Given the description of an element on the screen output the (x, y) to click on. 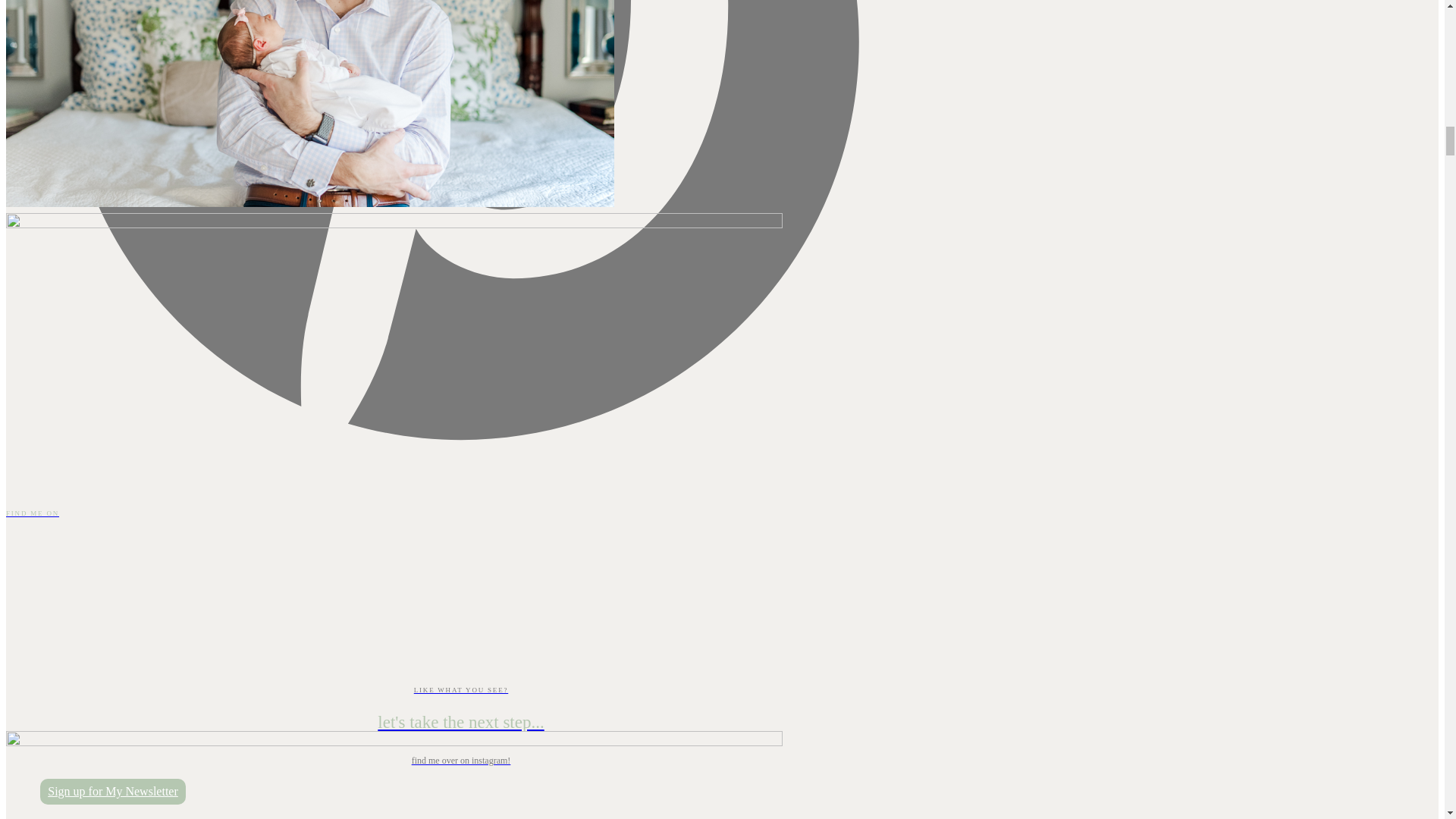
find me over on instagram! (460, 760)
Sign up for My Newsletter (113, 791)
let's take the next step... (460, 722)
FIND ME ON (460, 513)
